Given the description of an element on the screen output the (x, y) to click on. 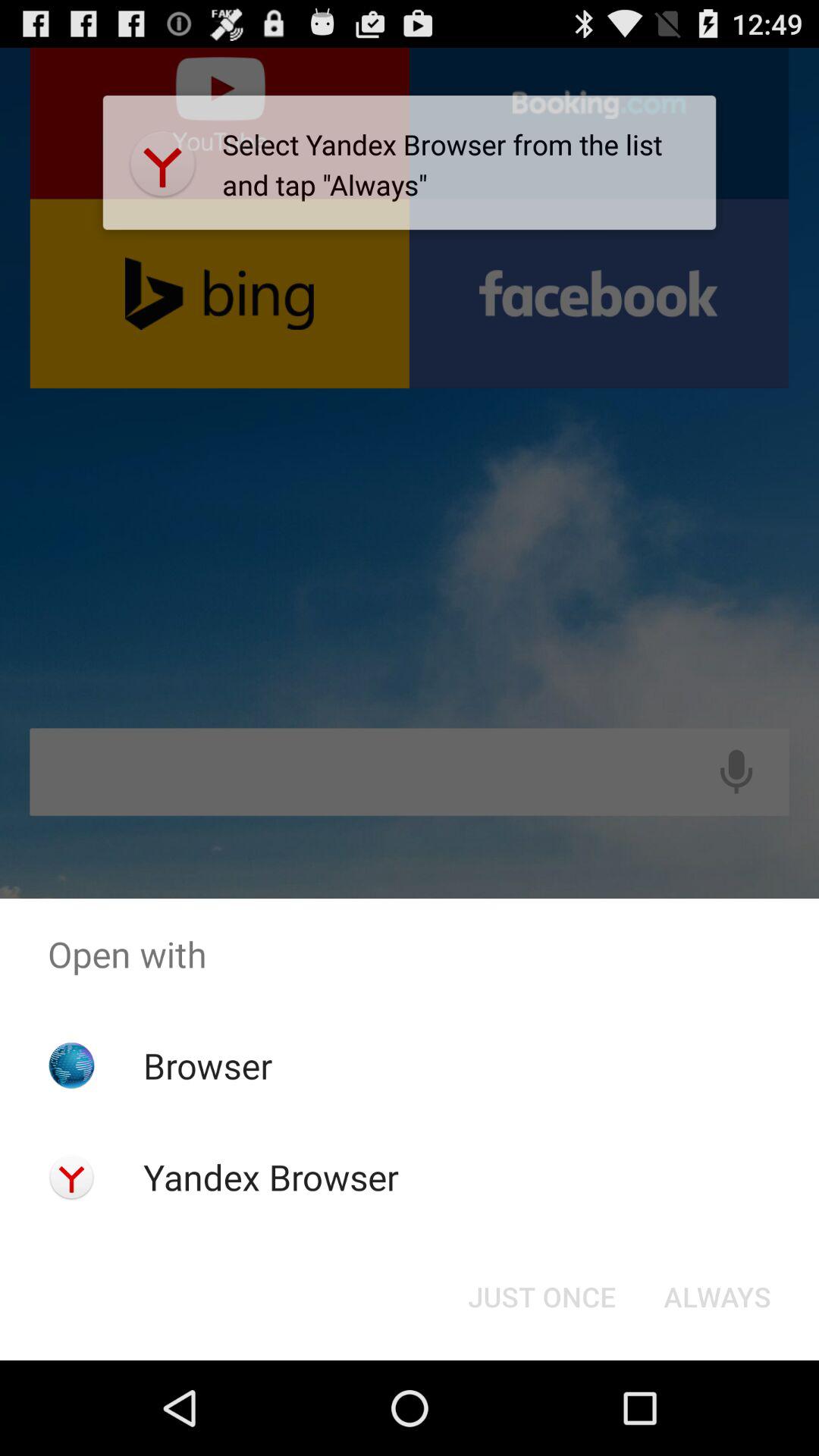
open the button next to always button (541, 1296)
